Given the description of an element on the screen output the (x, y) to click on. 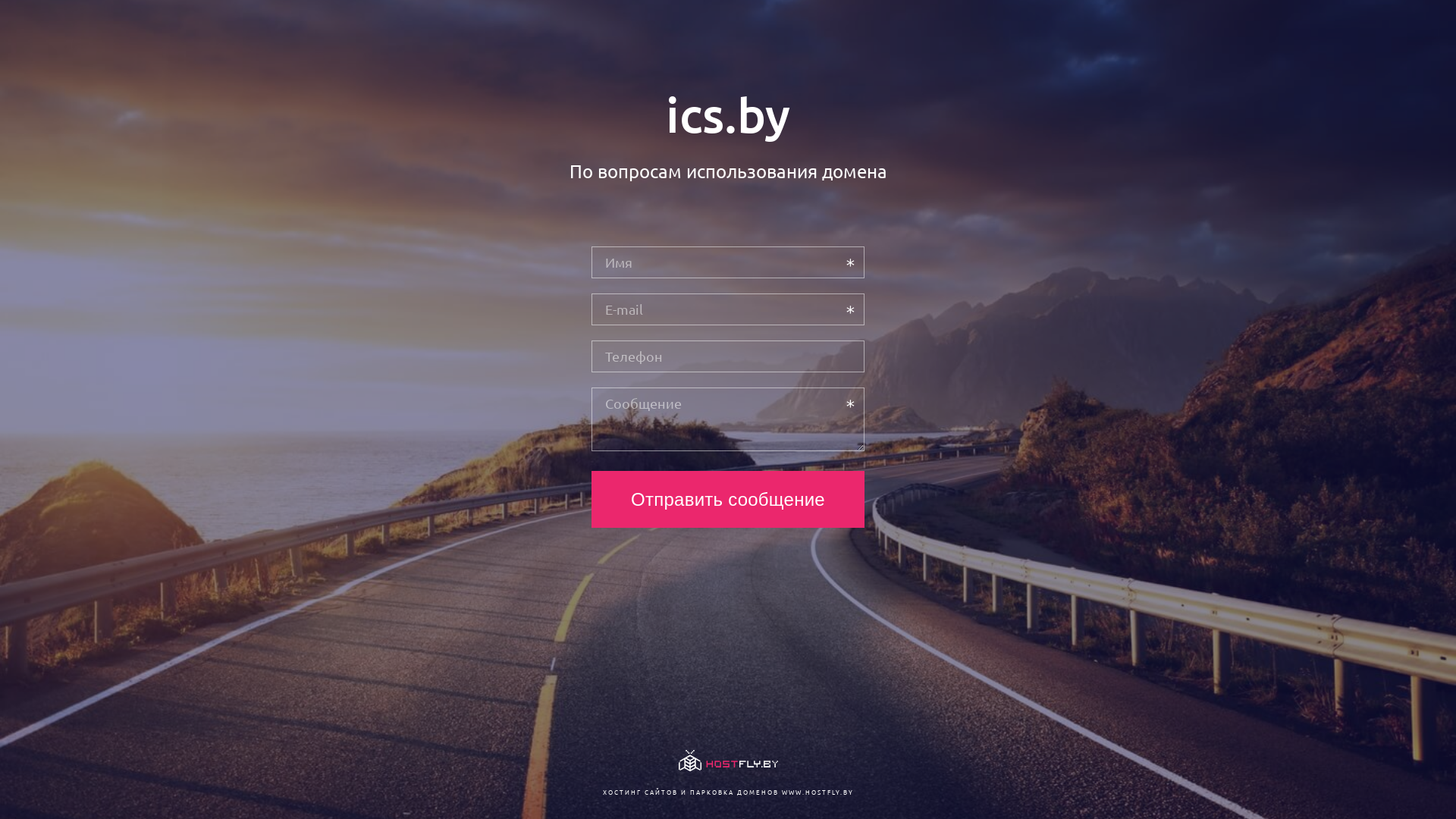
WWW.HOSTFLY.BY Element type: text (817, 791)
